Given the description of an element on the screen output the (x, y) to click on. 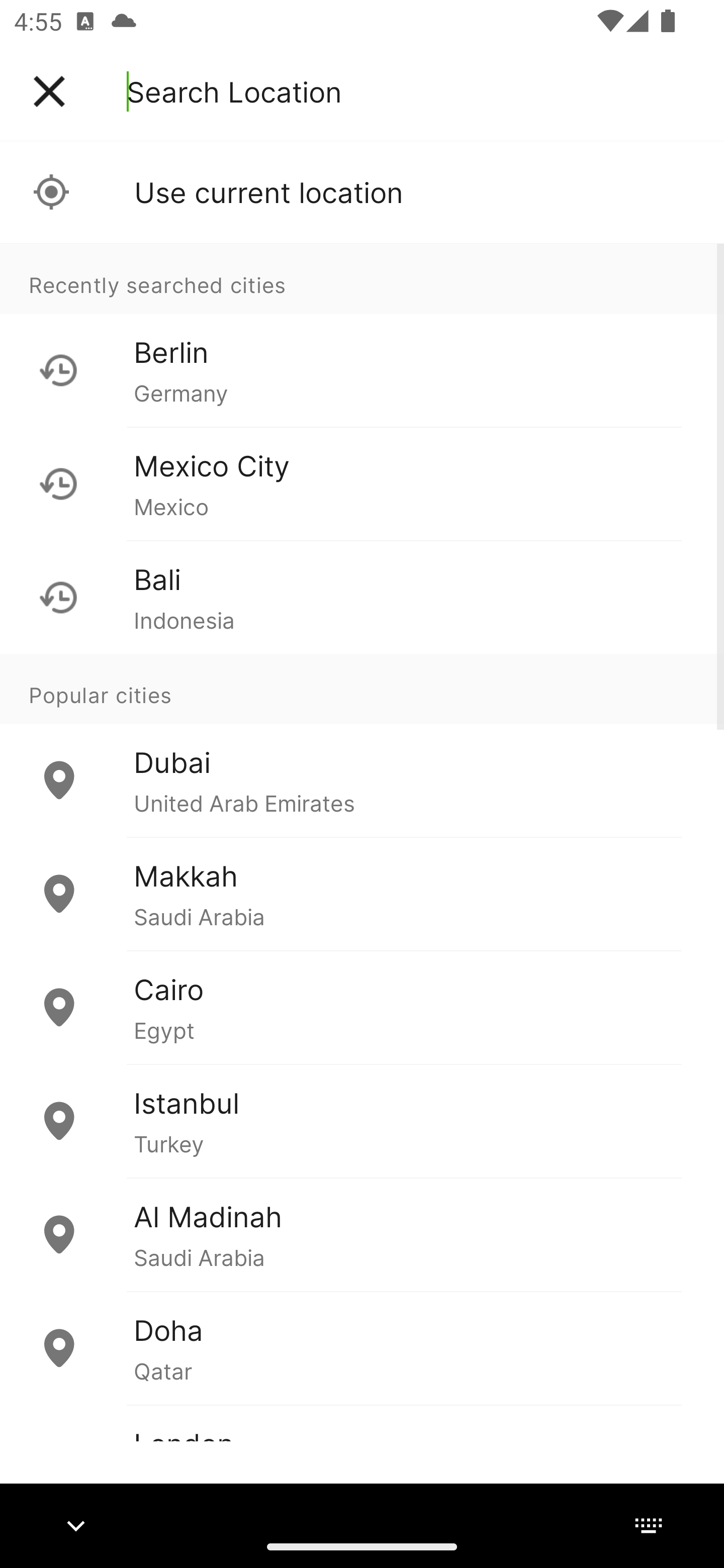
Search Location (234, 91)
Use current location (362, 192)
Recently searched cities Berlin Germany (362, 334)
Recently searched cities (362, 278)
Mexico City Mexico (362, 483)
Bali Indonesia (362, 596)
Popular cities Dubai United Arab Emirates (362, 745)
Popular cities (362, 688)
Makkah Saudi Arabia (362, 893)
Cairo Egypt (362, 1007)
Istanbul Turkey (362, 1120)
Al Madinah Saudi Arabia (362, 1233)
Doha Qatar (362, 1347)
